Given the description of an element on the screen output the (x, y) to click on. 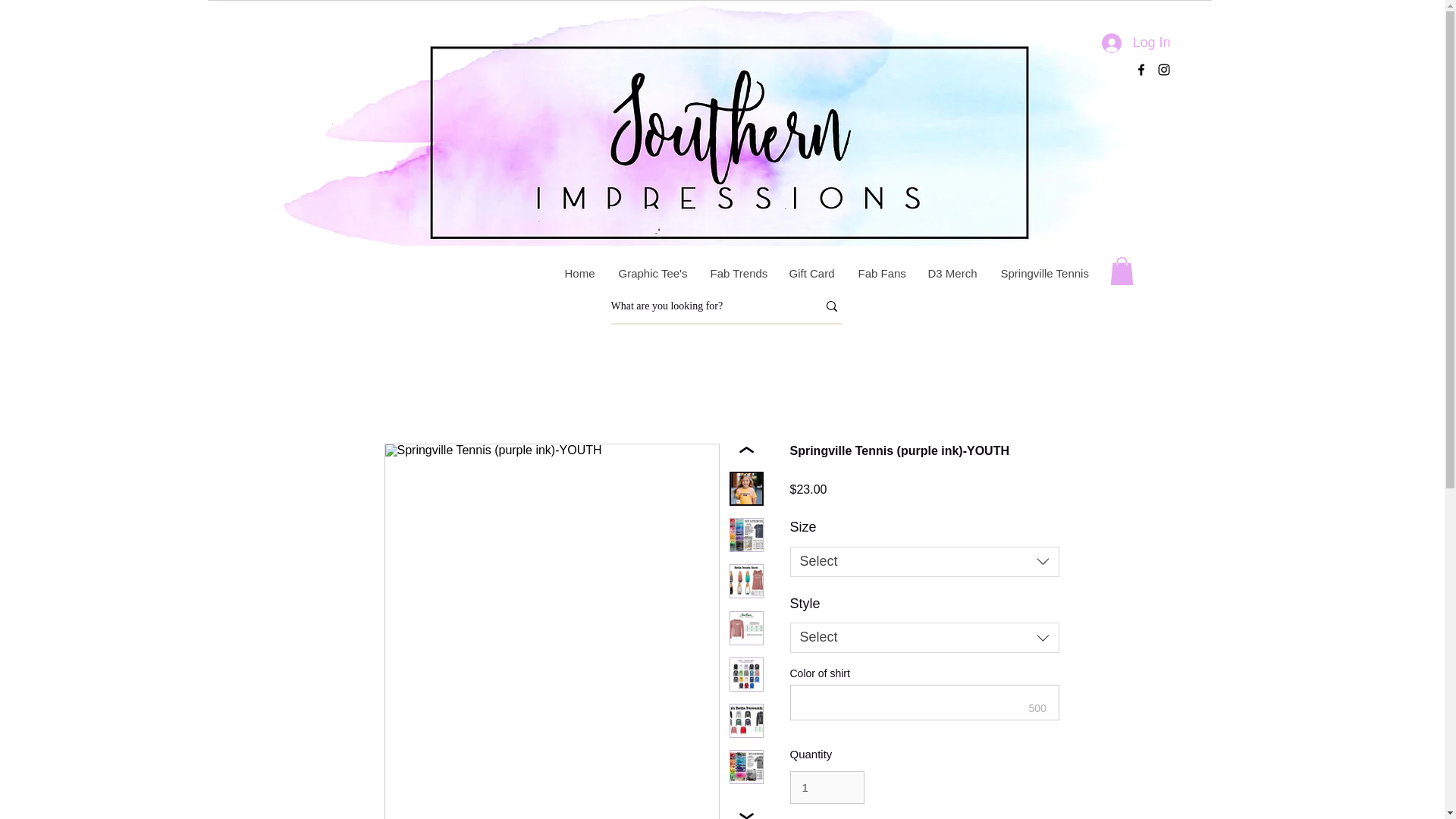
1 (827, 787)
Log In (1135, 42)
Gift Card (810, 273)
Springville Tennis (1042, 273)
Select (924, 637)
Select (924, 562)
Home (578, 273)
D3 Merch (951, 273)
Fab Trends (736, 273)
Graphic Tee's (652, 273)
Fab Fans (880, 273)
